Given the description of an element on the screen output the (x, y) to click on. 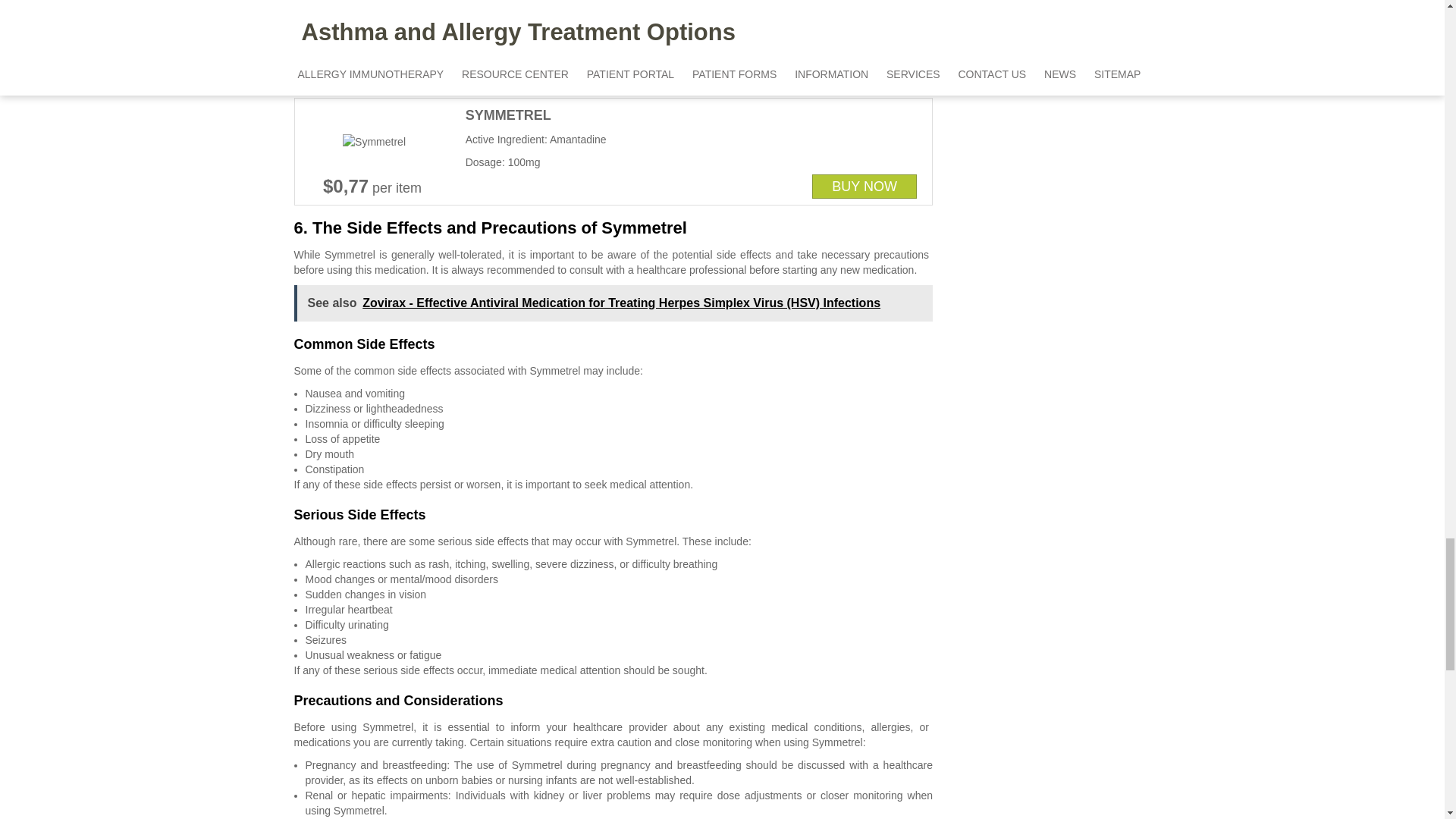
BUY NOW (864, 186)
RxList (715, 82)
